Given the description of an element on the screen output the (x, y) to click on. 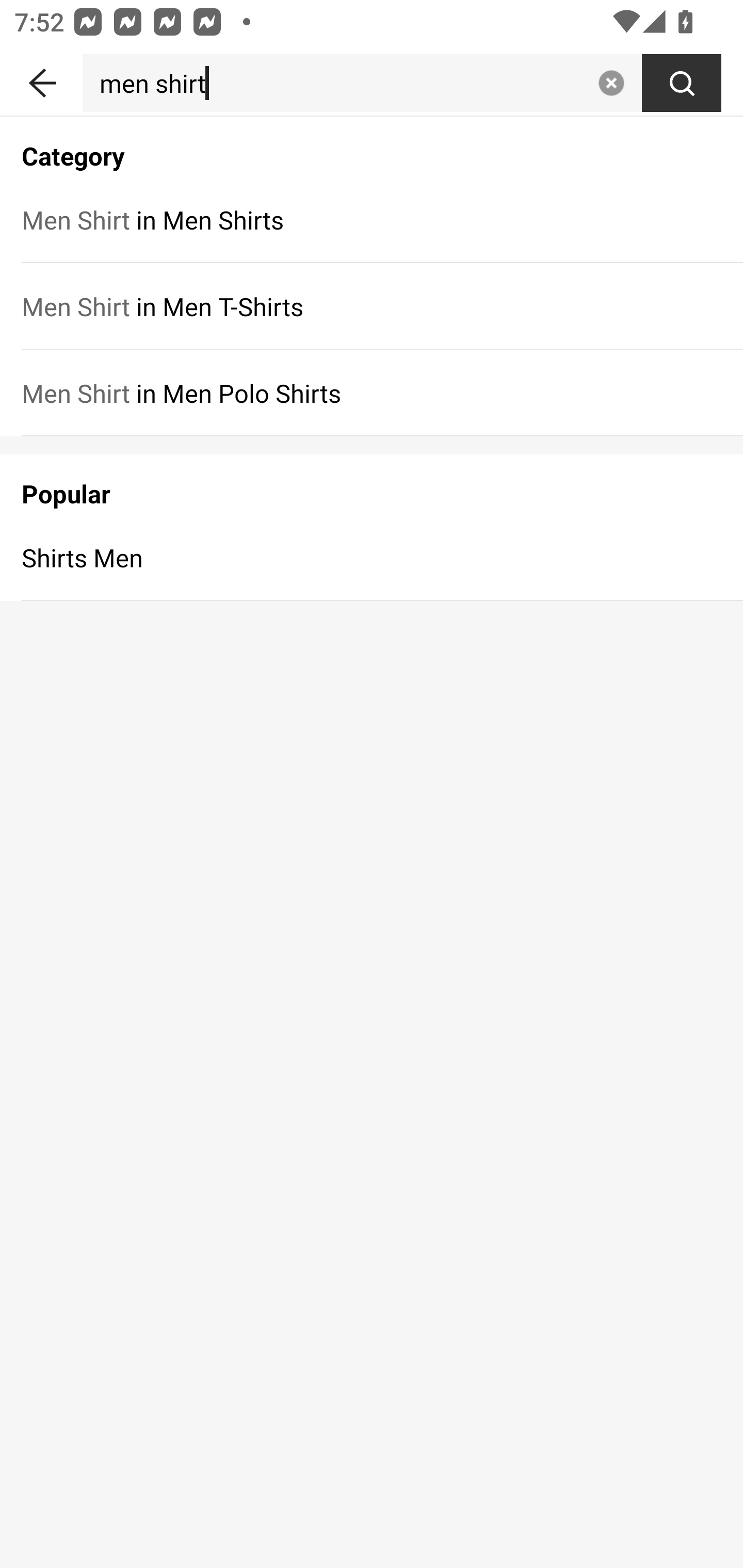
BACK (41, 79)
men shirt (336, 82)
Clear (610, 82)
Category (371, 145)
Men Shirt in Men Shirts (371, 219)
Men Shirt in Men T-Shirts (371, 306)
Men Shirt in Men Polo Shirts (371, 392)
Popular (371, 484)
Shirts Men (371, 557)
